Given the description of an element on the screen output the (x, y) to click on. 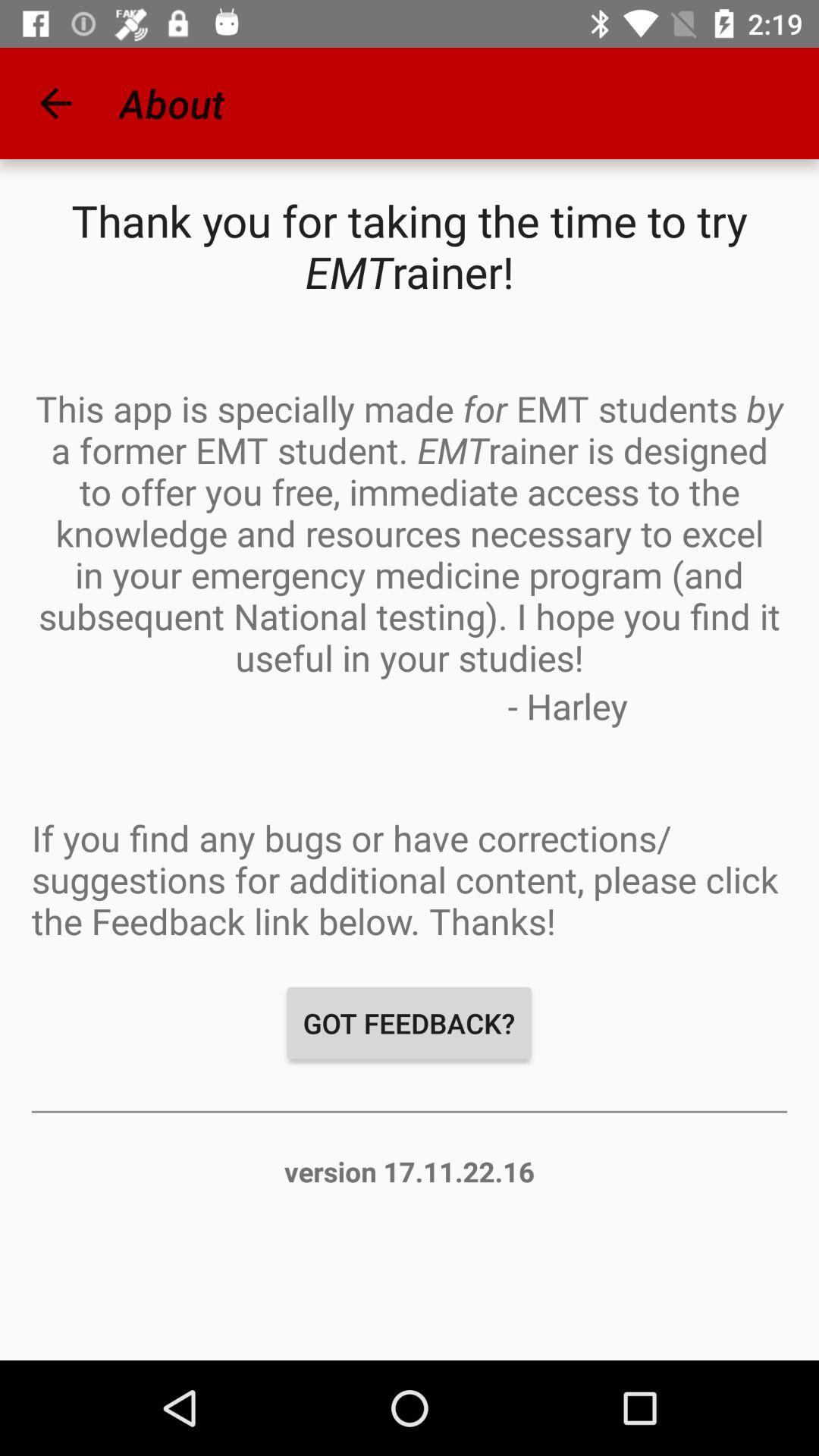
turn off the icon to the left of about (55, 103)
